Given the description of an element on the screen output the (x, y) to click on. 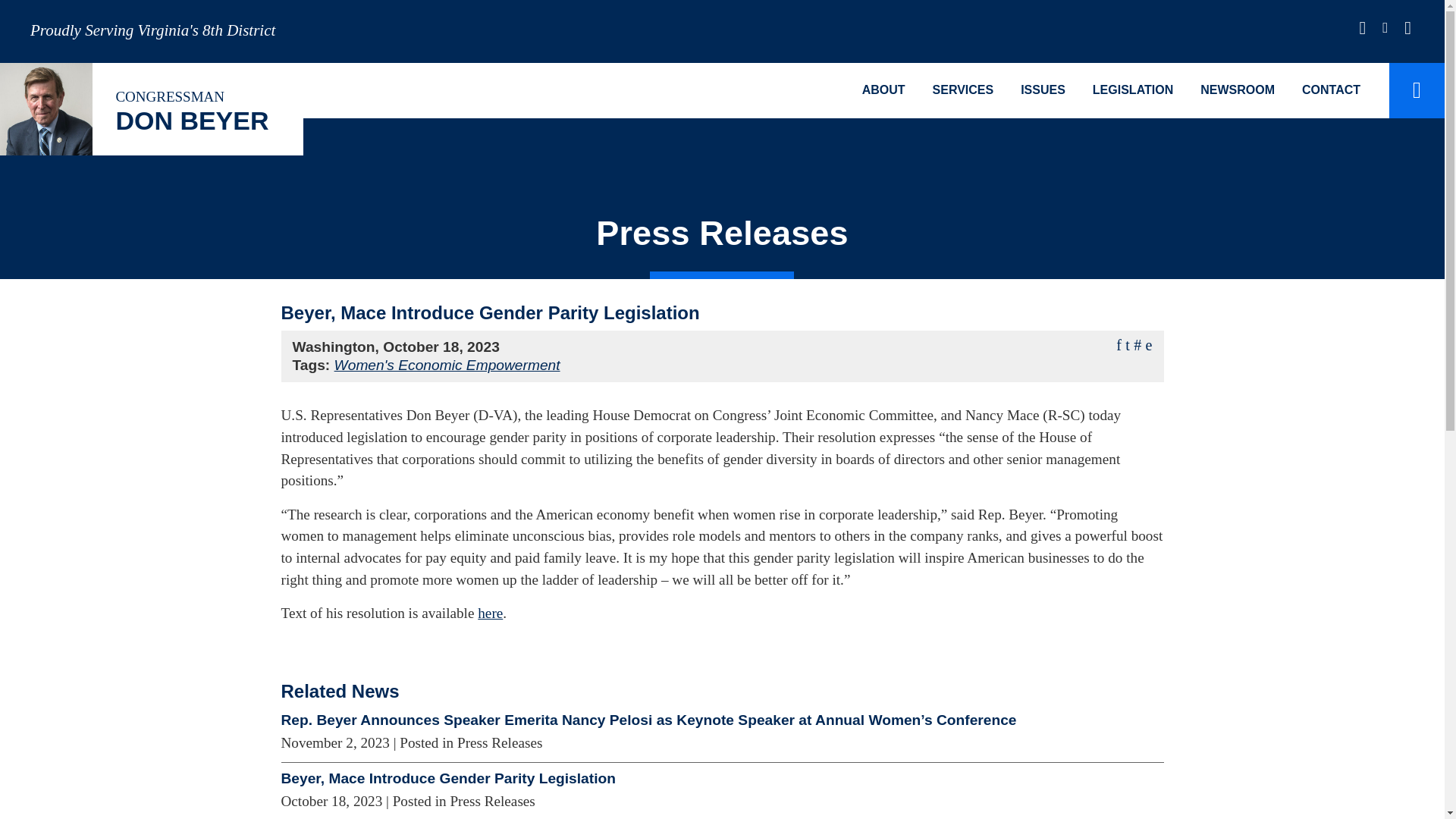
ISSUES (1042, 90)
SERVICES (962, 90)
ABOUT (883, 90)
